Given the description of an element on the screen output the (x, y) to click on. 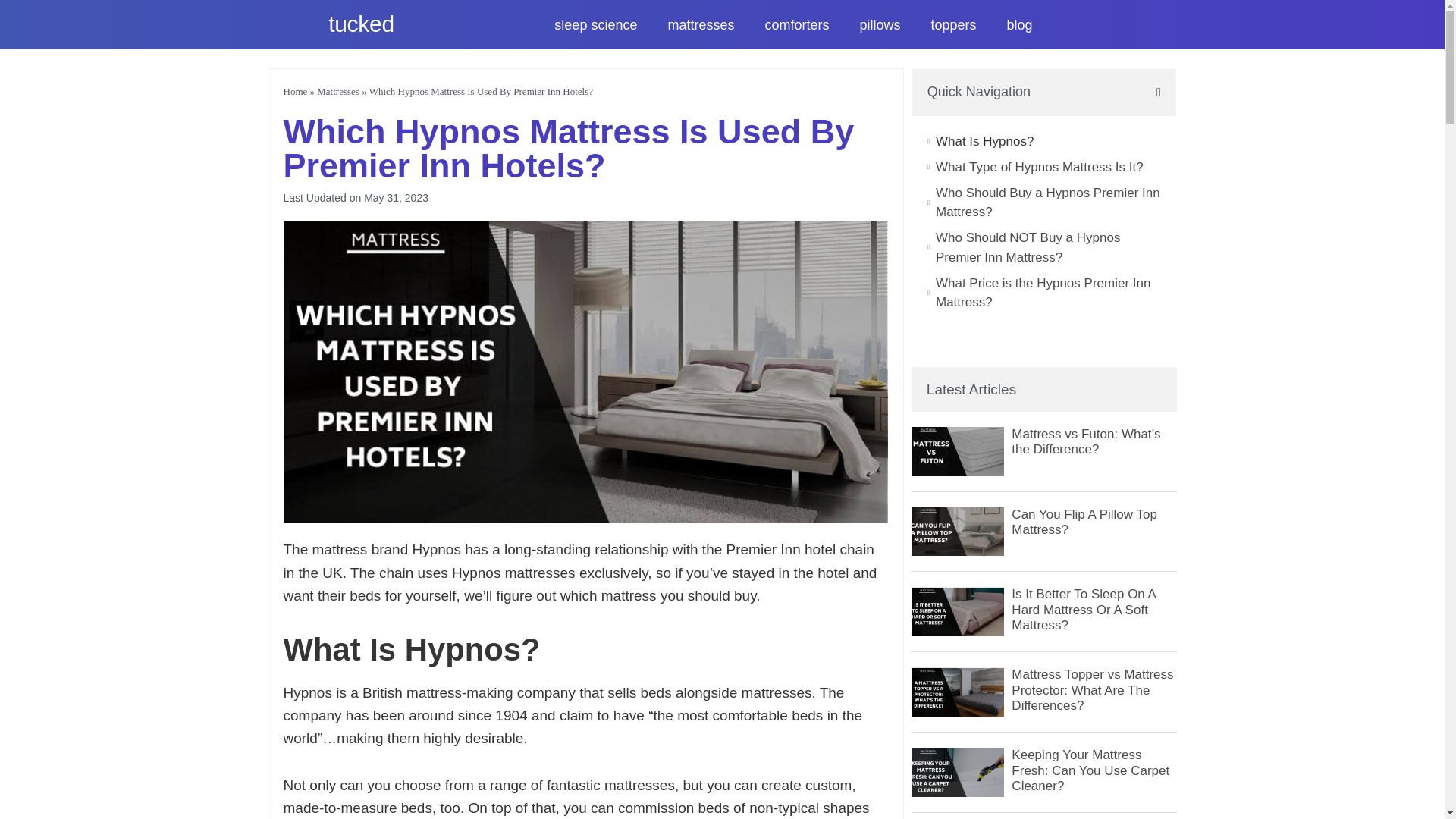
Home (295, 91)
Who Should NOT Buy a Hypnos Premier Inn Mattress? (1048, 247)
Is It Better To Sleep On A Hard Mattress Or A Soft Mattress? (1083, 609)
mattresses (699, 24)
What Is Hypnos? (984, 141)
comforters (796, 24)
toppers (953, 24)
pillows (880, 24)
What Price is the Hypnos Premier Inn Mattress? (1048, 292)
Mattresses (338, 91)
Who Should Buy a Hypnos Premier Inn Mattress? (1048, 202)
Keeping Your Mattress Fresh: Can You Use Carpet Cleaner? (1090, 770)
sleep science (595, 24)
tucked (361, 23)
